Given the description of an element on the screen output the (x, y) to click on. 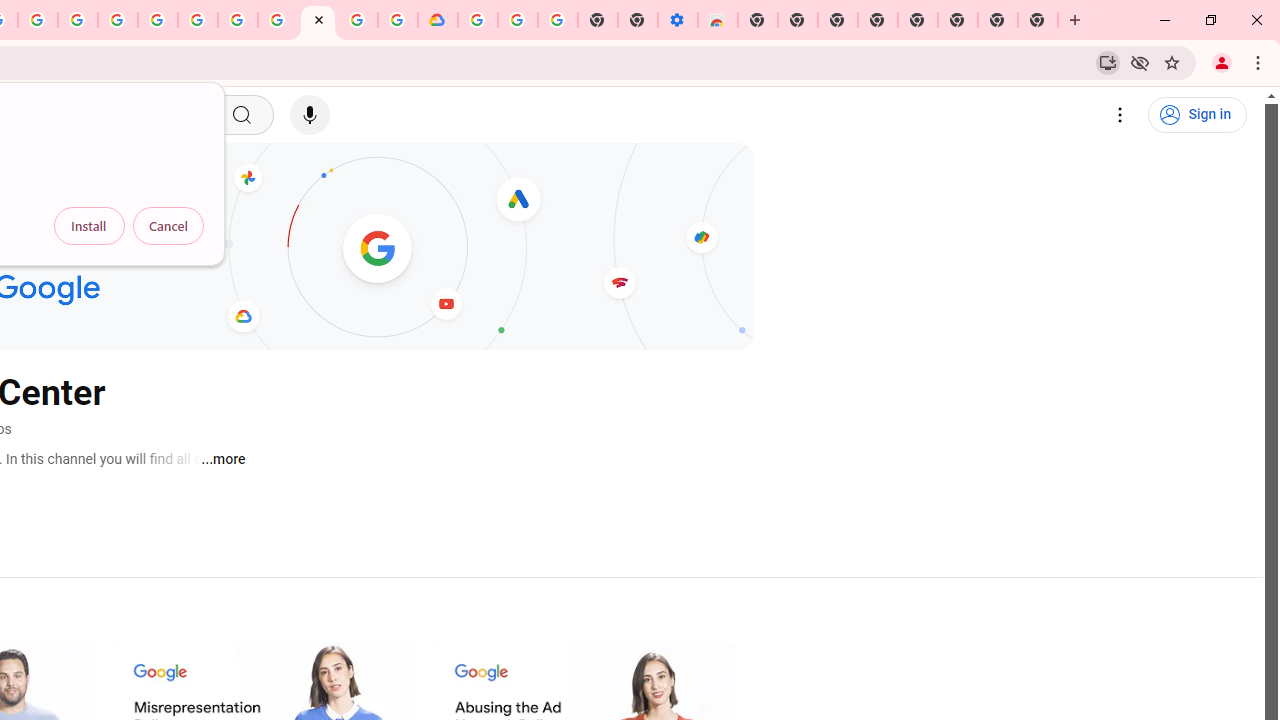
New Tab (758, 20)
Android TV Policies and Guidelines - Transparency Center (278, 20)
Google Transparency Center - YouTube (317, 20)
Browse the Google Chrome Community - Google Chrome Community (397, 20)
New Tab (1037, 20)
Settings - Accessibility (677, 20)
Sign in - Google Accounts (477, 20)
Cancel (168, 225)
Create your Google Account (37, 20)
